Given the description of an element on the screen output the (x, y) to click on. 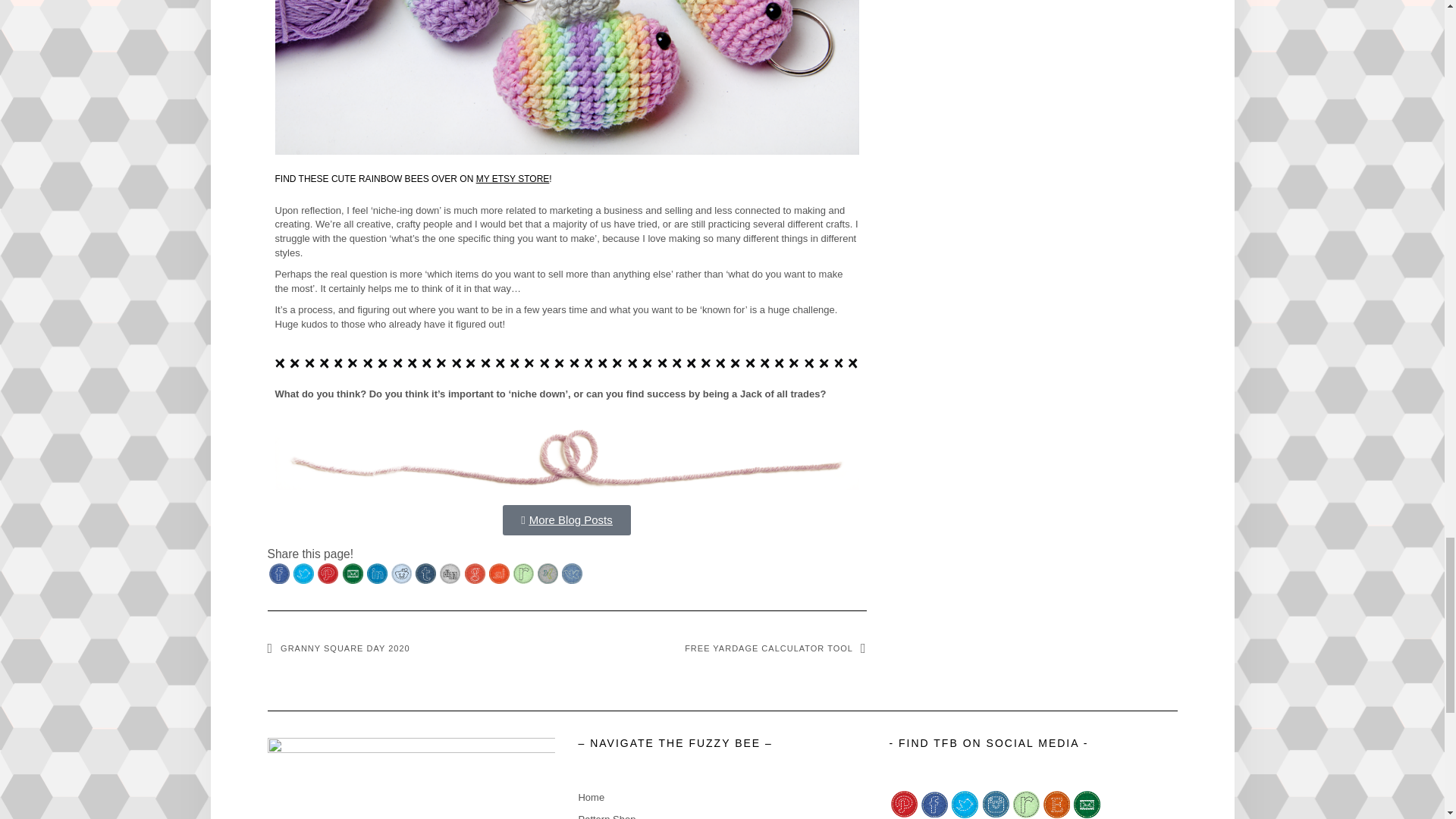
Share via Tumblr (424, 572)
GRANNY SQUARE DAY 2020 (337, 647)
Share via Twitter (304, 572)
Share via Facebook (279, 572)
Share via Pinterest (327, 572)
More Blog Posts (566, 520)
Share via Google (474, 572)
Share via LinkedIn (376, 572)
MY ETSY STORE (513, 178)
Share via Digg (449, 572)
Share via Reddit (401, 572)
Share via Email (352, 572)
FREE YARDAGE CALCULATOR TOOL (775, 647)
